Given the description of an element on the screen output the (x, y) to click on. 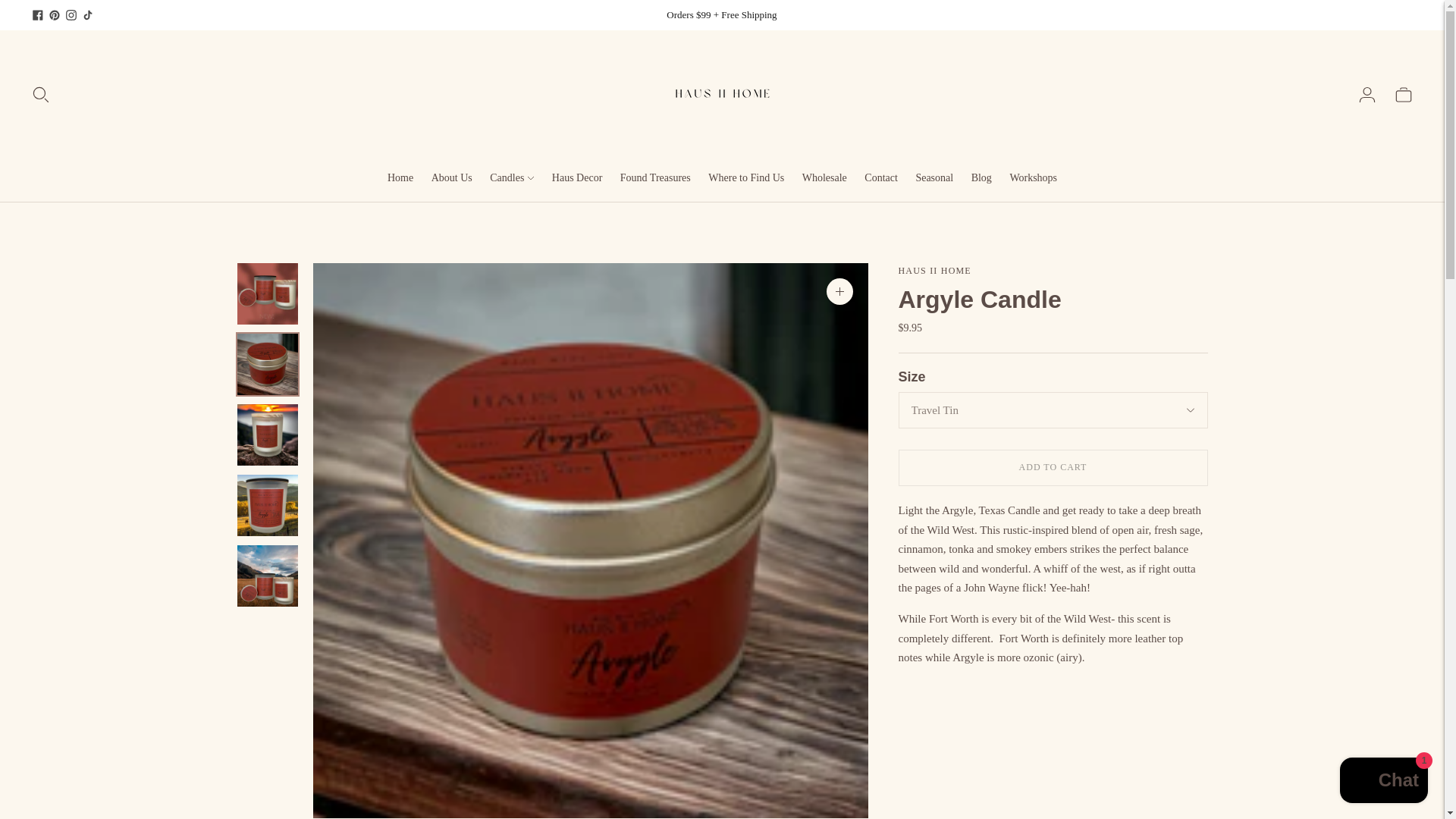
haus2hometx on TikTok (87, 14)
haus2hometx on Facebook (37, 14)
Haus II Home (934, 270)
haus2hometx on Instagram (71, 14)
Shopify online store chat (1383, 781)
haus2hometx on Pinterest (54, 14)
